Given the description of an element on the screen output the (x, y) to click on. 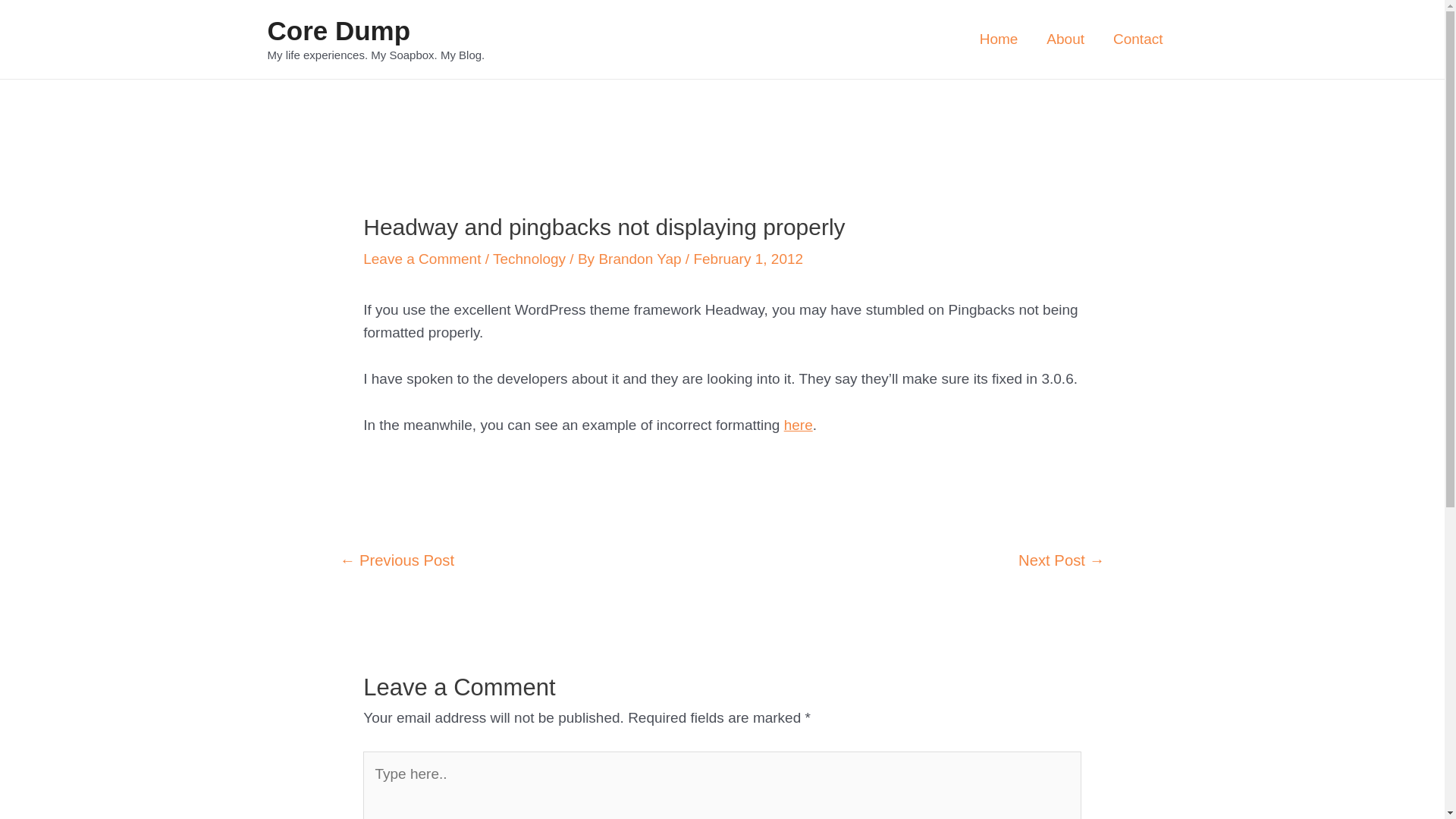
About Element type: text (1065, 38)
Home Element type: text (998, 38)
Core Dump Element type: text (338, 30)
Brandon Yap Element type: text (641, 258)
Leave a Comment Element type: text (421, 258)
Contact Element type: text (1137, 38)
here Element type: text (798, 425)
Technology Element type: text (528, 258)
